Given the description of an element on the screen output the (x, y) to click on. 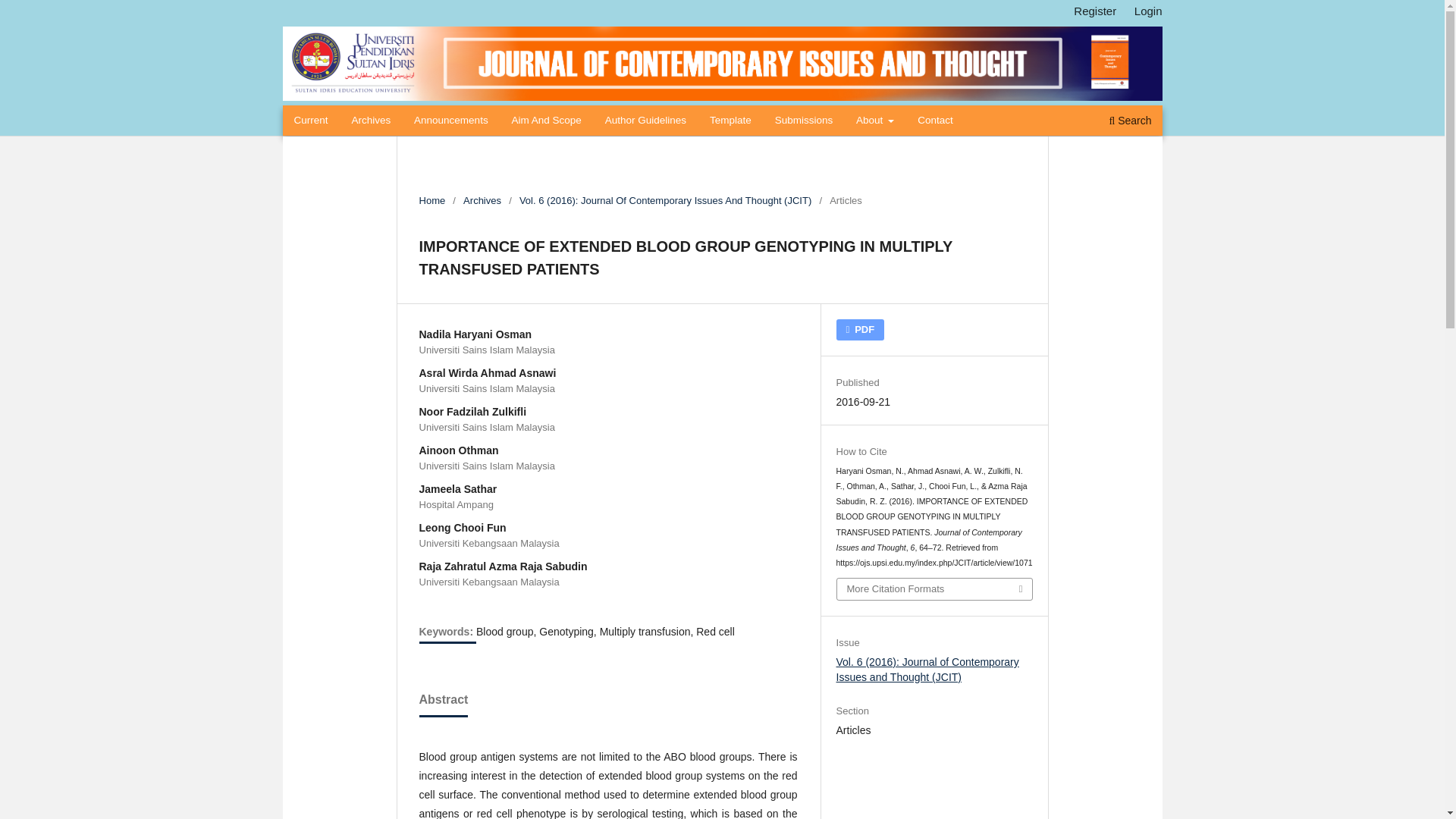
Archives (481, 200)
Submissions (804, 121)
Template (729, 121)
Current (310, 121)
Aim And Scope (546, 121)
About (874, 121)
Announcements (451, 121)
More Citation Formats (934, 588)
Register (1094, 11)
Contact (935, 121)
Login (1148, 11)
Search (1129, 121)
PDF (860, 329)
Archives (371, 121)
Home (432, 200)
